Given the description of an element on the screen output the (x, y) to click on. 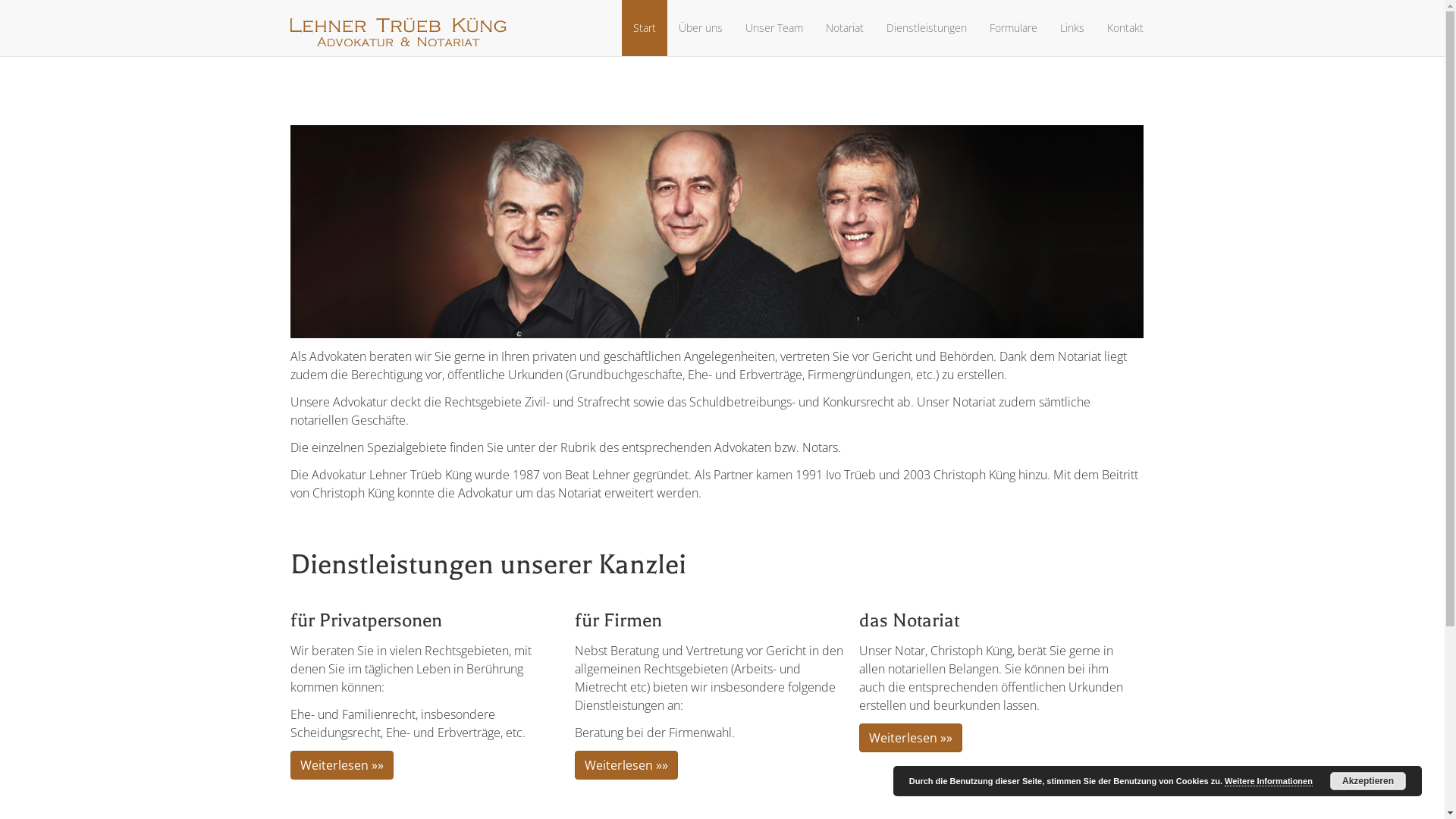
Dienstleistungen Element type: text (926, 28)
Kontakt Element type: text (1124, 28)
Unser Team Element type: text (774, 28)
Weitere Informationen Element type: text (1268, 781)
Notariat Element type: text (844, 28)
Formulare Element type: text (1013, 28)
Akzeptieren Element type: text (1367, 780)
Links Element type: text (1071, 28)
Start Element type: text (644, 28)
